Given the description of an element on the screen output the (x, y) to click on. 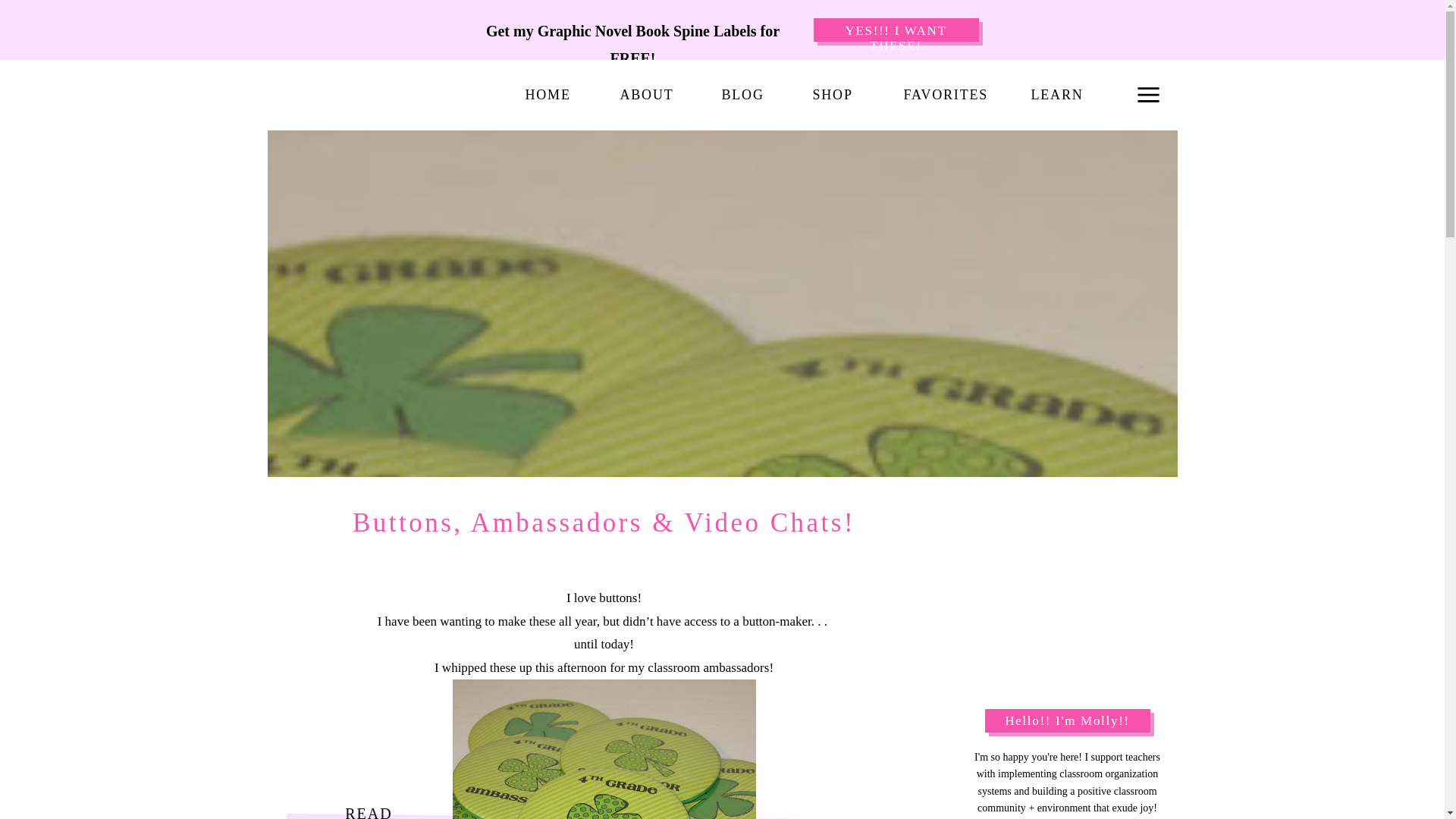
FAVORITES (941, 94)
LEARN (1055, 94)
READ COMMENTS (369, 809)
BLOG (741, 94)
HOME (545, 94)
ABOUT (644, 94)
SHOP (831, 94)
